Given the description of an element on the screen output the (x, y) to click on. 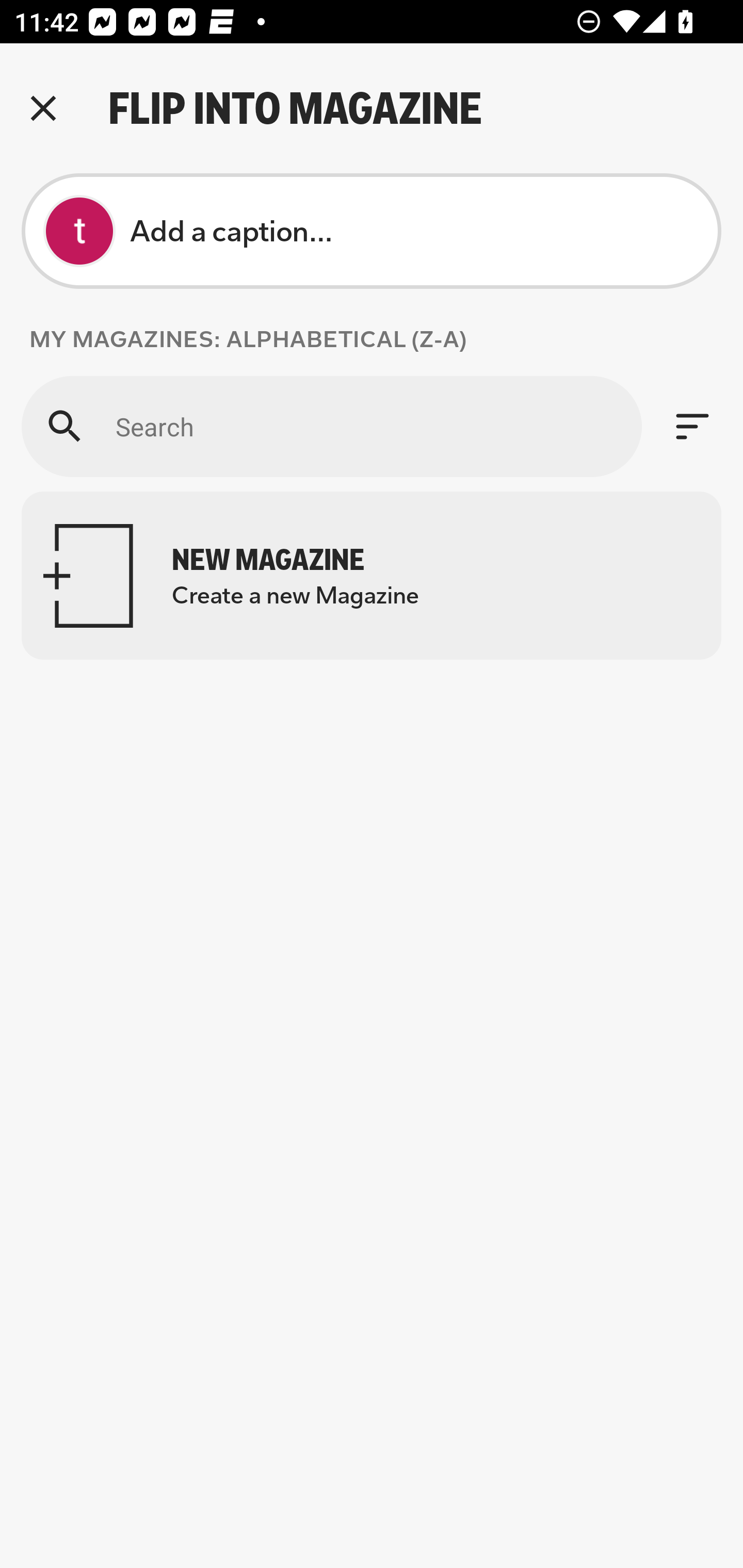
test appium Add a caption… (371, 231)
Search (331, 426)
NEW MAGAZINE Create a new Magazine (371, 575)
